Given the description of an element on the screen output the (x, y) to click on. 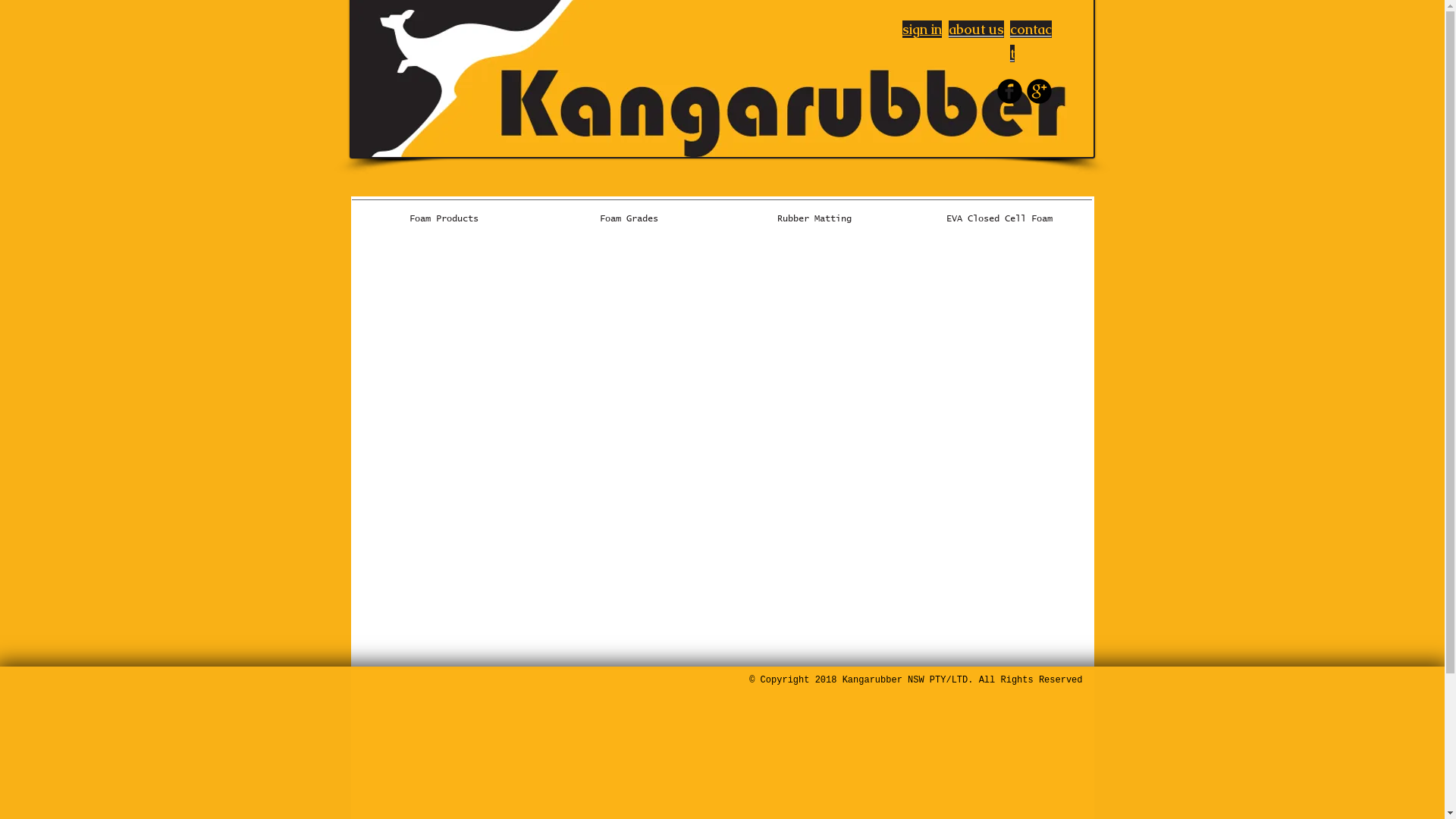
EVA Closed Cell Foam Element type: text (999, 212)
Foam Products Element type: text (443, 212)
about us Element type: text (975, 26)
contact Element type: text (1030, 39)
sign Element type: text (916, 26)
in Element type: text (936, 28)
Foam Grades Element type: text (628, 212)
Rubber Matting Element type: text (813, 212)
